Given the description of an element on the screen output the (x, y) to click on. 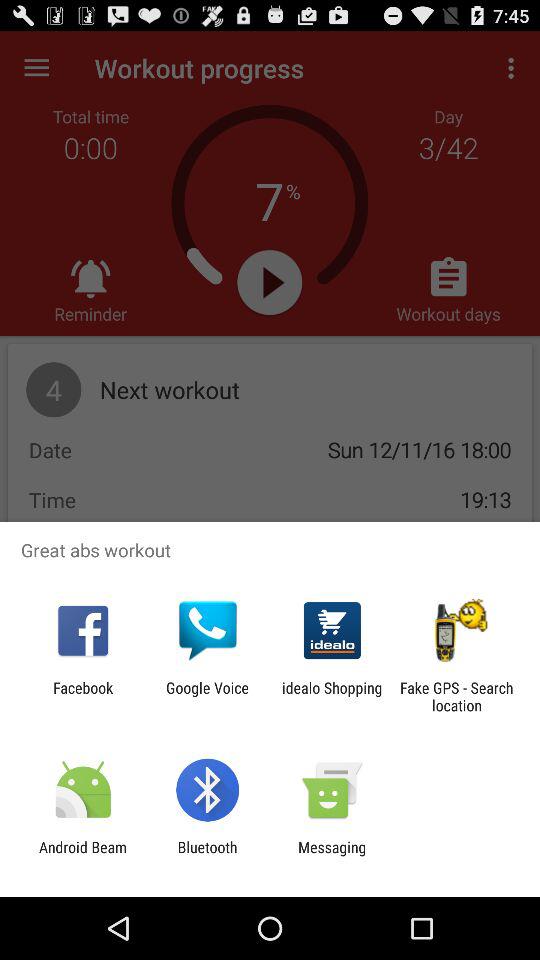
select the android beam icon (83, 856)
